Given the description of an element on the screen output the (x, y) to click on. 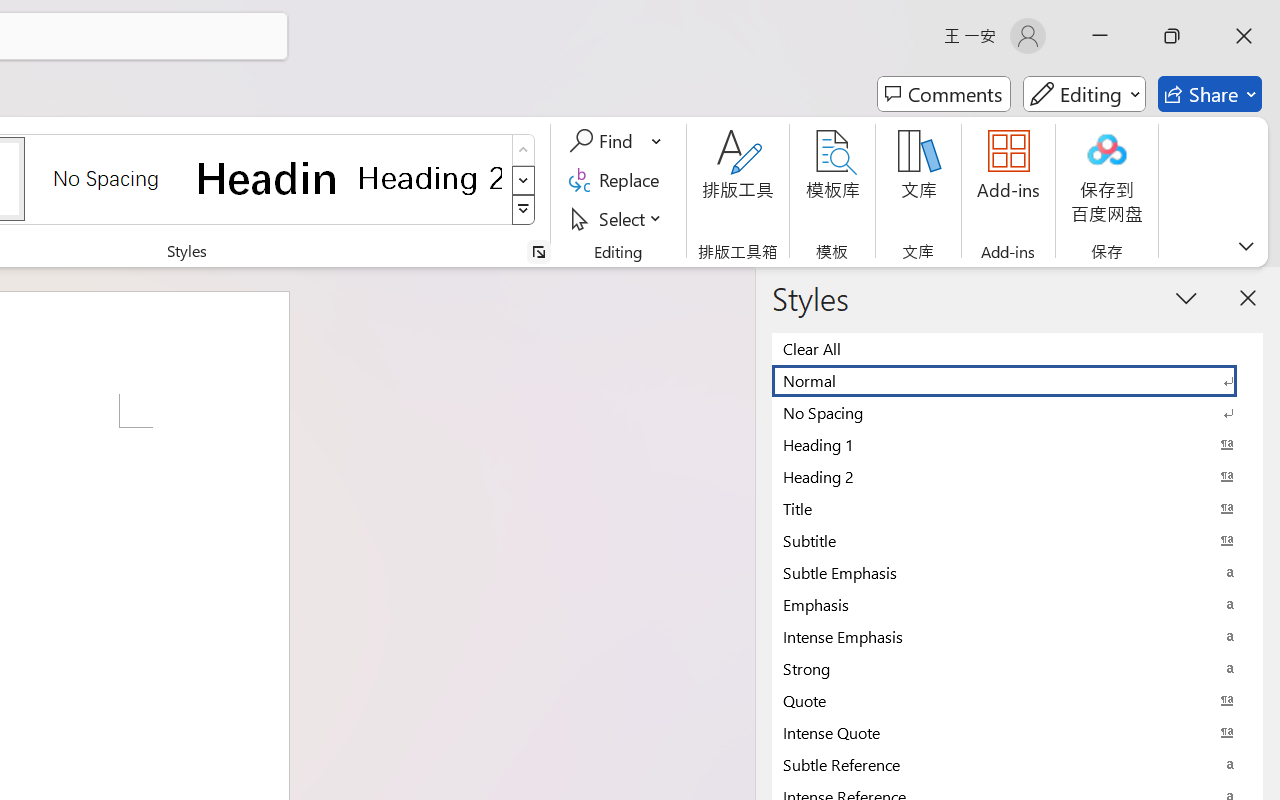
Normal (1017, 380)
Heading 2 (429, 178)
Intense Quote (1017, 732)
Styles (523, 209)
Emphasis (1017, 604)
Quote (1017, 700)
Row up (523, 150)
